Given the description of an element on the screen output the (x, y) to click on. 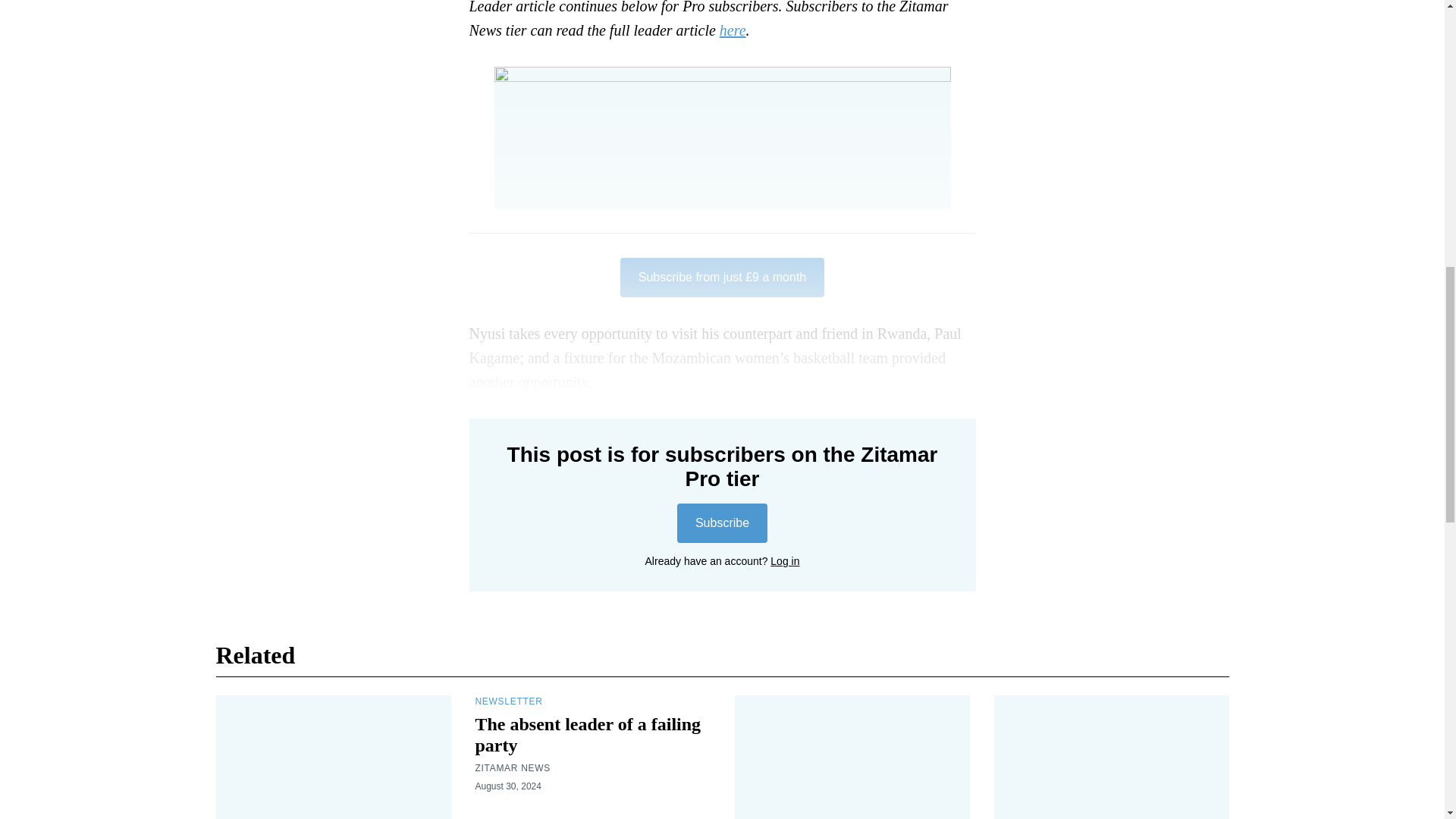
Log in (784, 561)
here (732, 30)
Subscribe (722, 522)
